Given the description of an element on the screen output the (x, y) to click on. 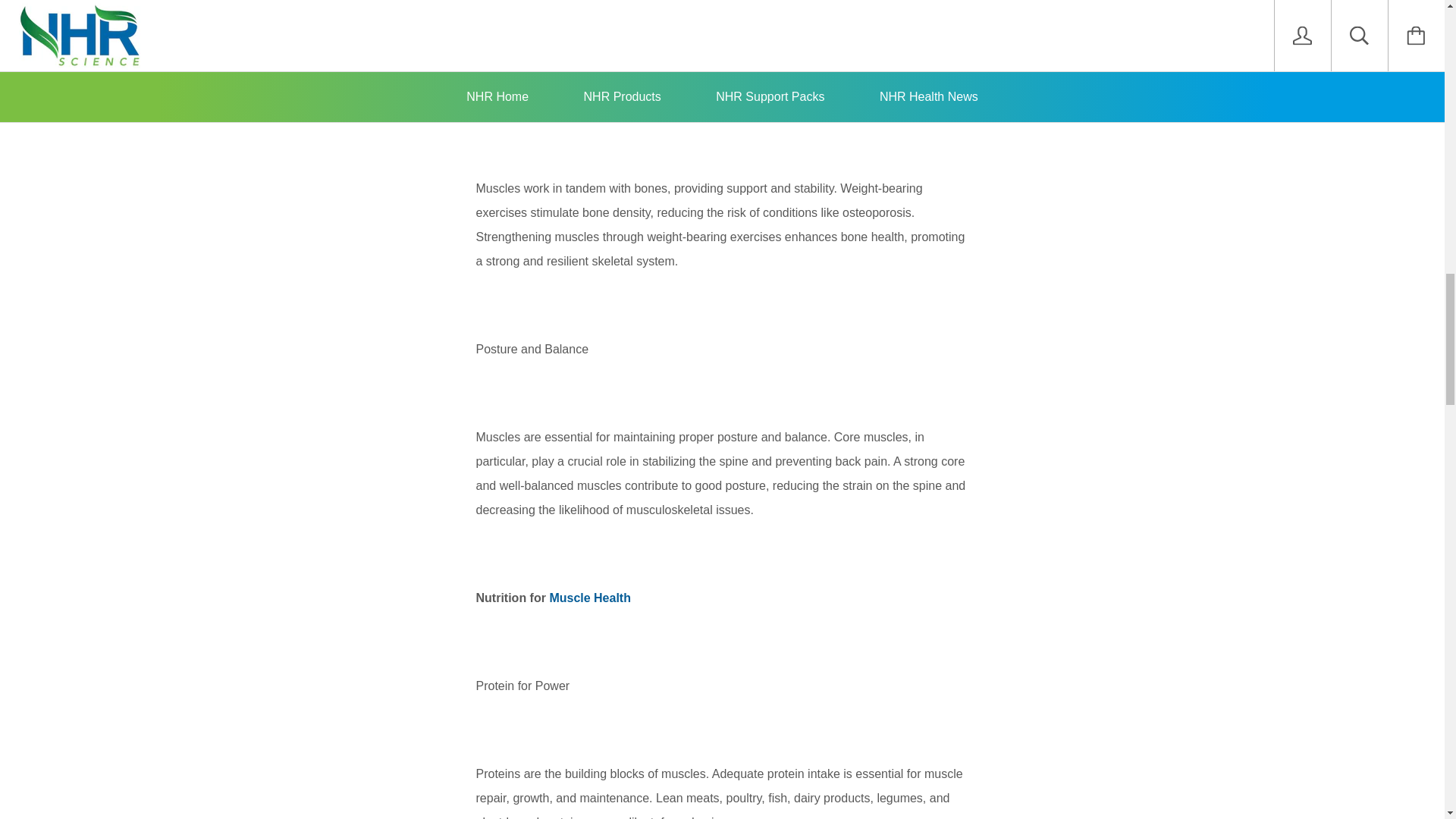
Muscle Health (589, 597)
Muscle Health (589, 597)
